Given the description of an element on the screen output the (x, y) to click on. 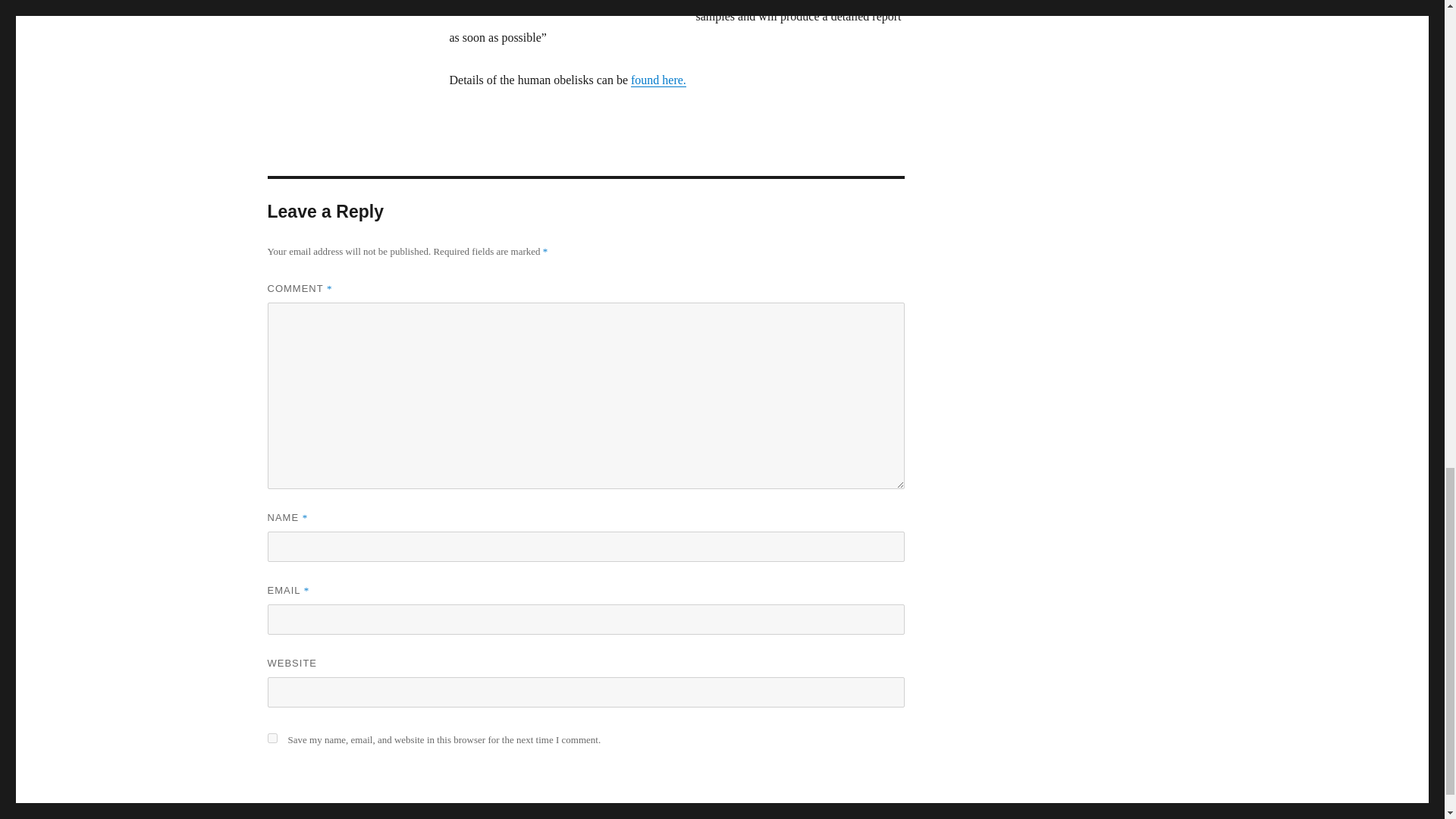
found here. (657, 79)
yes (271, 737)
